Given the description of an element on the screen output the (x, y) to click on. 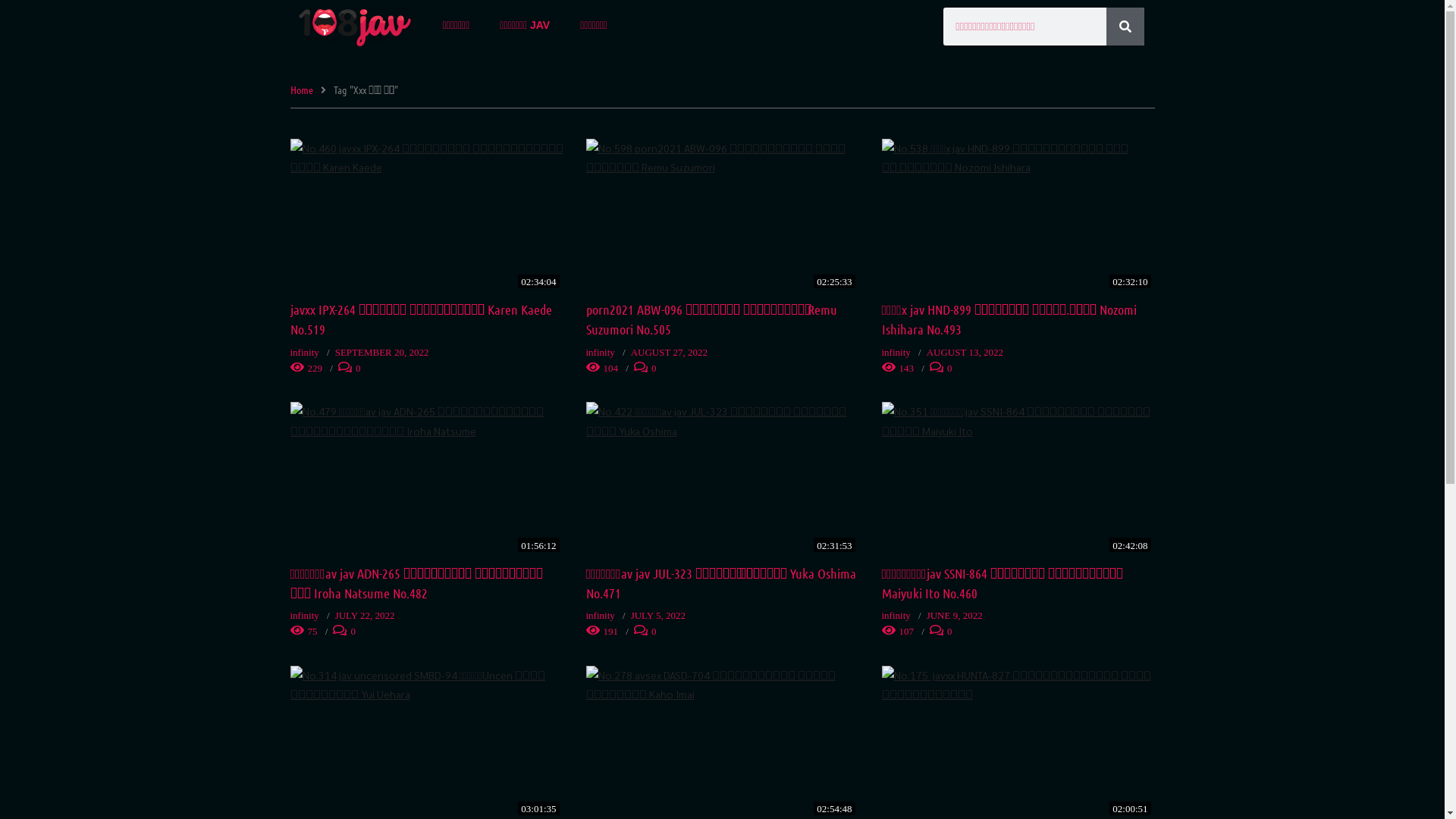
0 Element type: text (337, 631)
AUGUST 27, 2022 Element type: text (668, 351)
logo-108jav-final Element type: hover (354, 27)
JULY 5, 2022 Element type: text (657, 615)
AUGUST 13, 2022 Element type: text (964, 351)
SEPTEMBER 20, 2022 Element type: text (382, 351)
JUNE 9, 2022 Element type: text (954, 615)
infinity Element type: text (895, 351)
Home Element type: text (300, 89)
0 Element type: text (342, 367)
infinity Element type: text (895, 615)
0 Element type: text (933, 367)
infinity Element type: text (303, 351)
0 Element type: text (933, 631)
0 Element type: text (637, 631)
0 Element type: text (637, 367)
infinity Element type: text (599, 351)
infinity Element type: text (599, 615)
infinity Element type: text (303, 615)
JULY 22, 2022 Element type: text (365, 615)
